Given the description of an element on the screen output the (x, y) to click on. 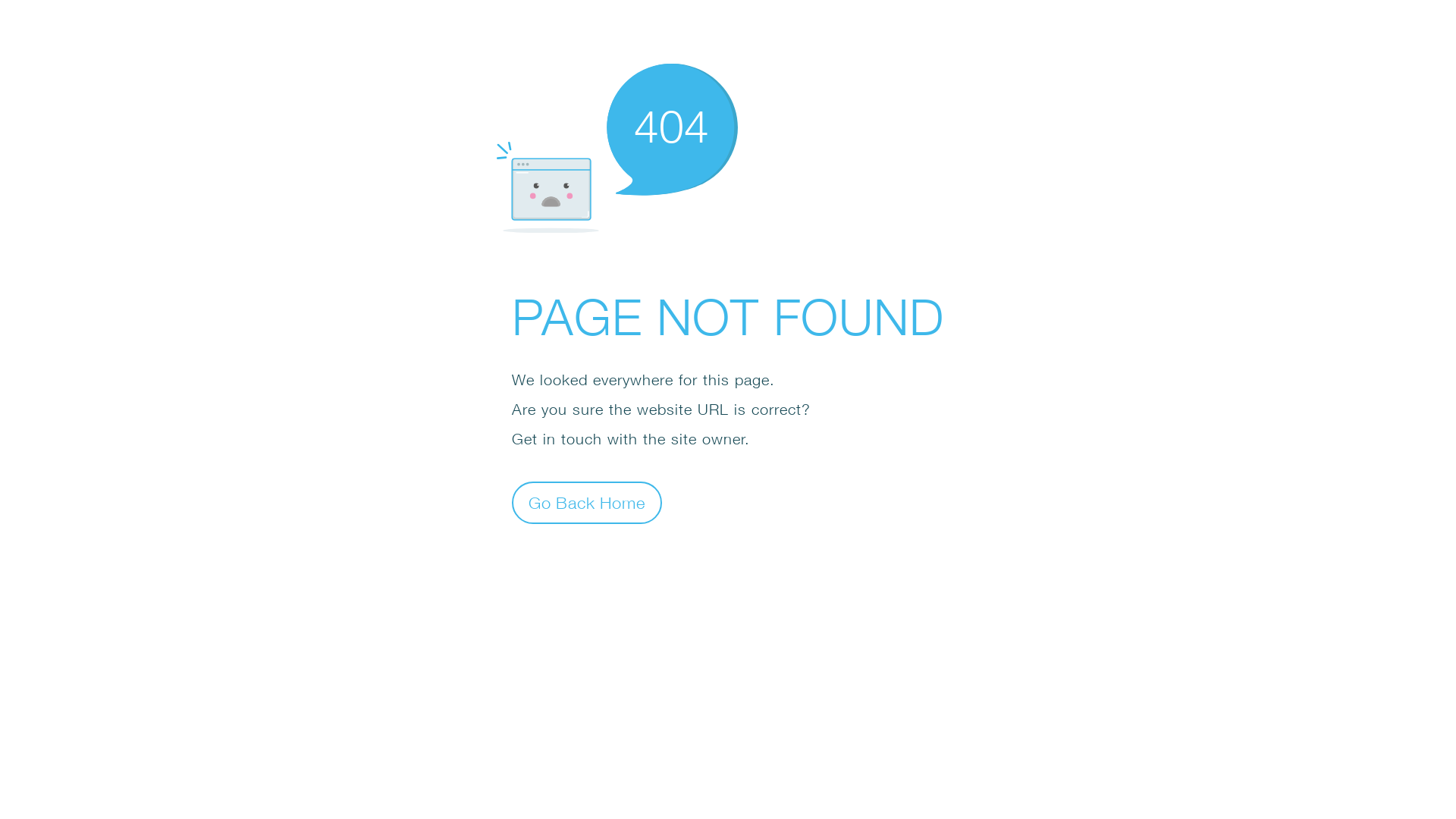
Go Back Home Element type: text (586, 502)
